Given the description of an element on the screen output the (x, y) to click on. 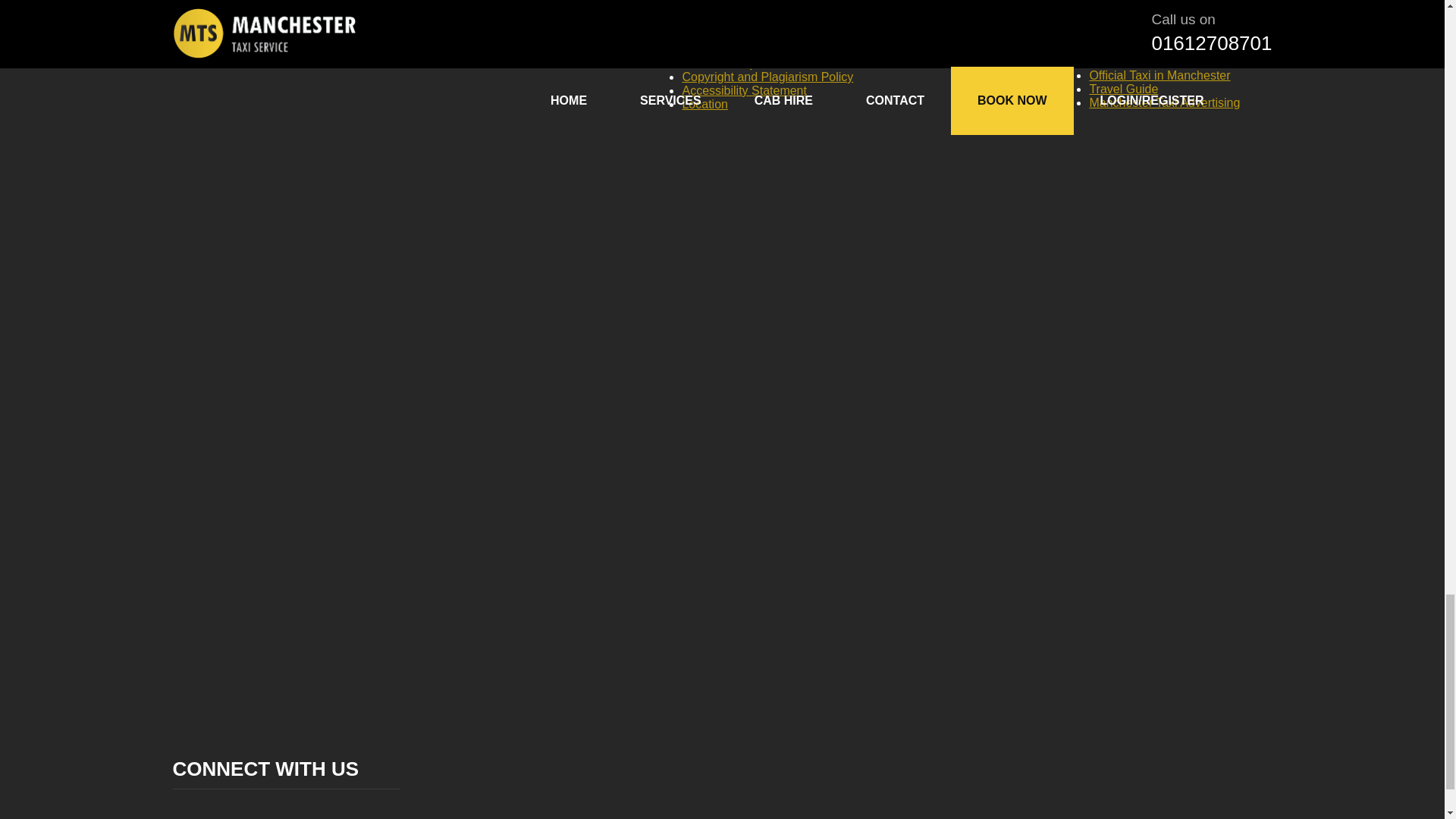
TripAdvisor (711, 0)
Website Disclaimer (733, 8)
Cookie Policy (718, 62)
Location (704, 103)
Privacy Policy (719, 21)
REFUND POLICY (730, 35)
Copyright and Plagiarism Policy (767, 76)
Accessibility Statement (743, 90)
